Given the description of an element on the screen output the (x, y) to click on. 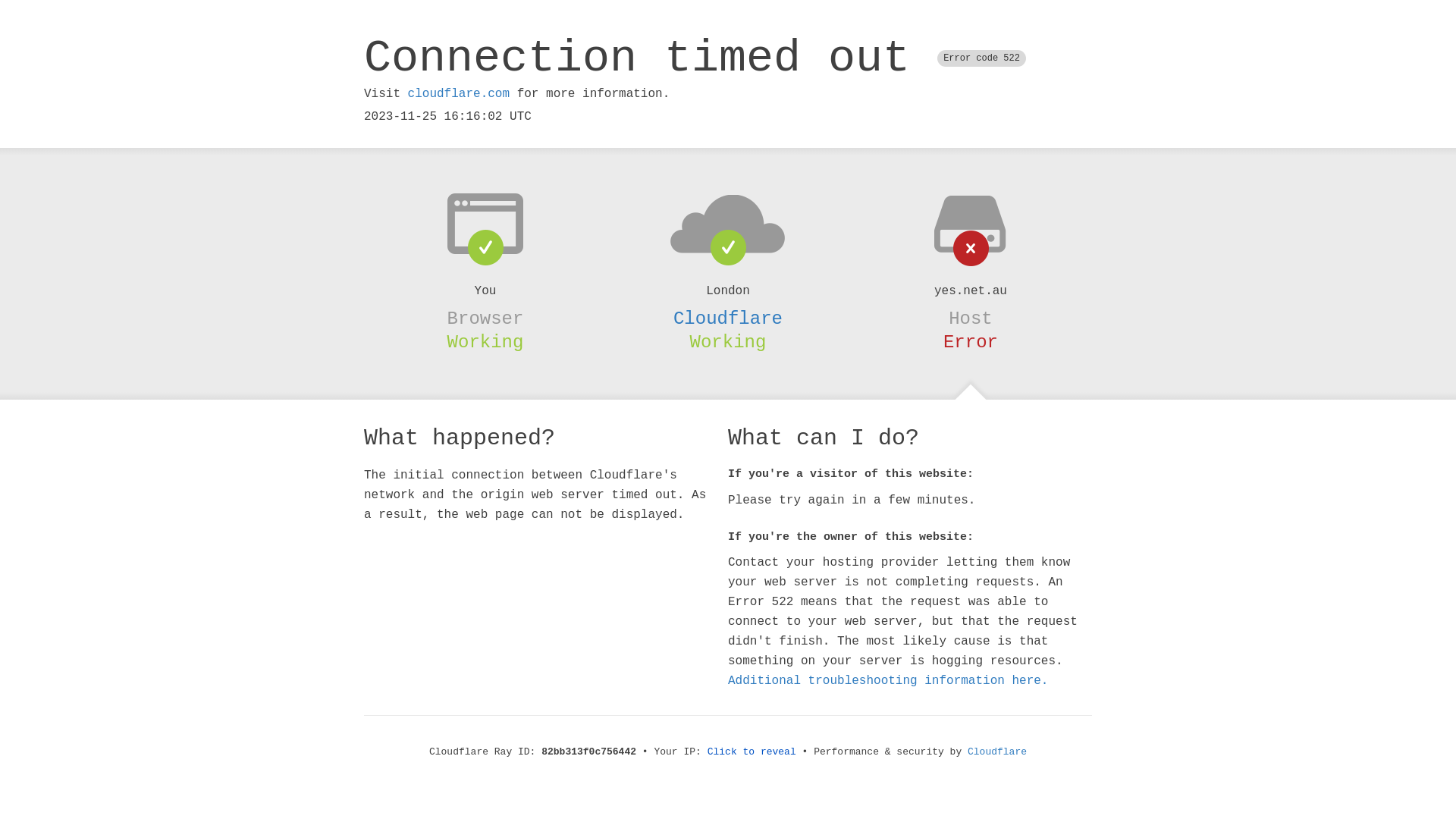
cloudflare.com Element type: text (458, 93)
Cloudflare Element type: text (996, 751)
Click to reveal Element type: text (751, 751)
Additional troubleshooting information here. Element type: text (888, 680)
Cloudflare Element type: text (727, 318)
